Given the description of an element on the screen output the (x, y) to click on. 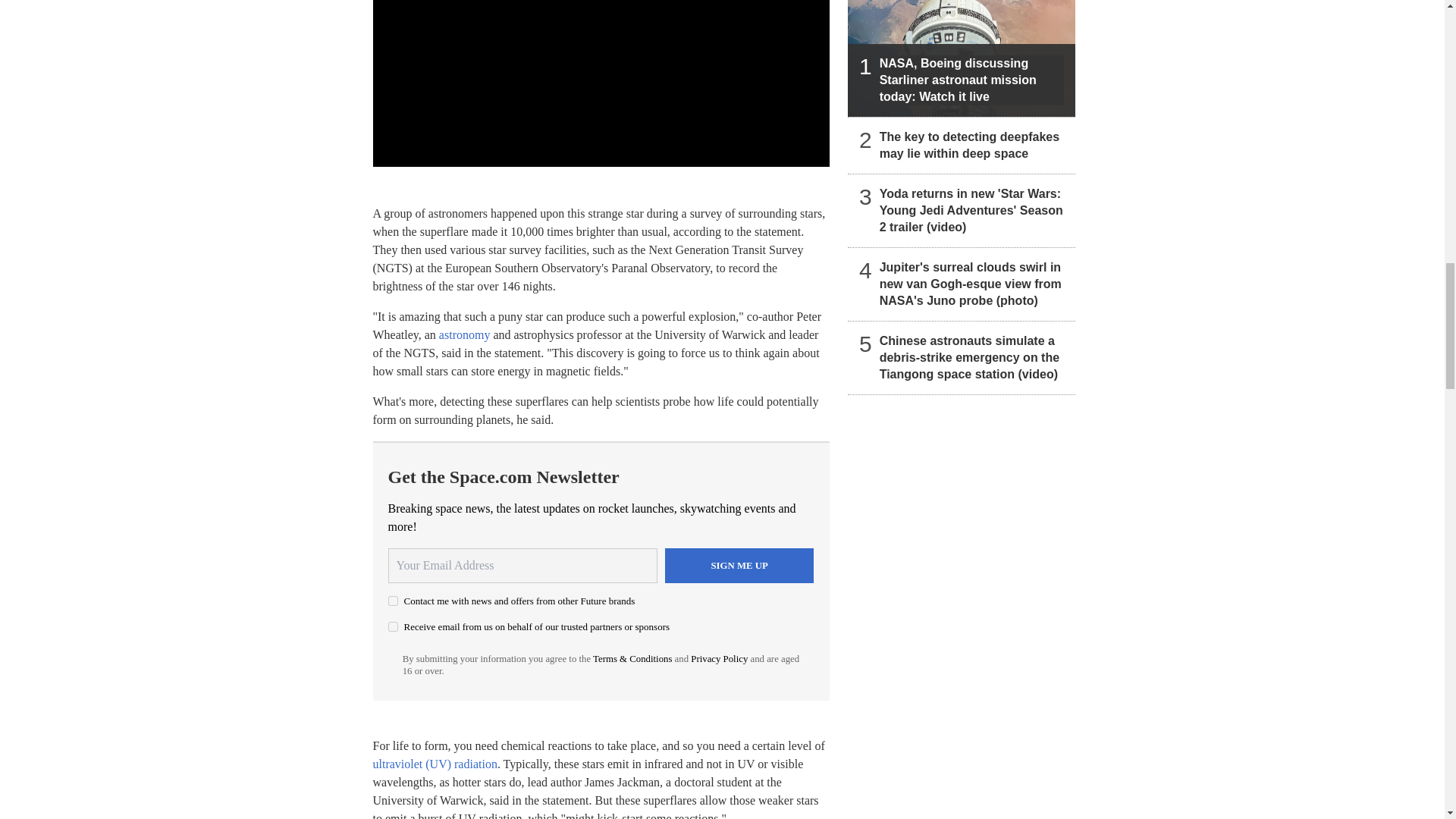
on (392, 626)
Sign me up (739, 565)
on (392, 601)
